Given the description of an element on the screen output the (x, y) to click on. 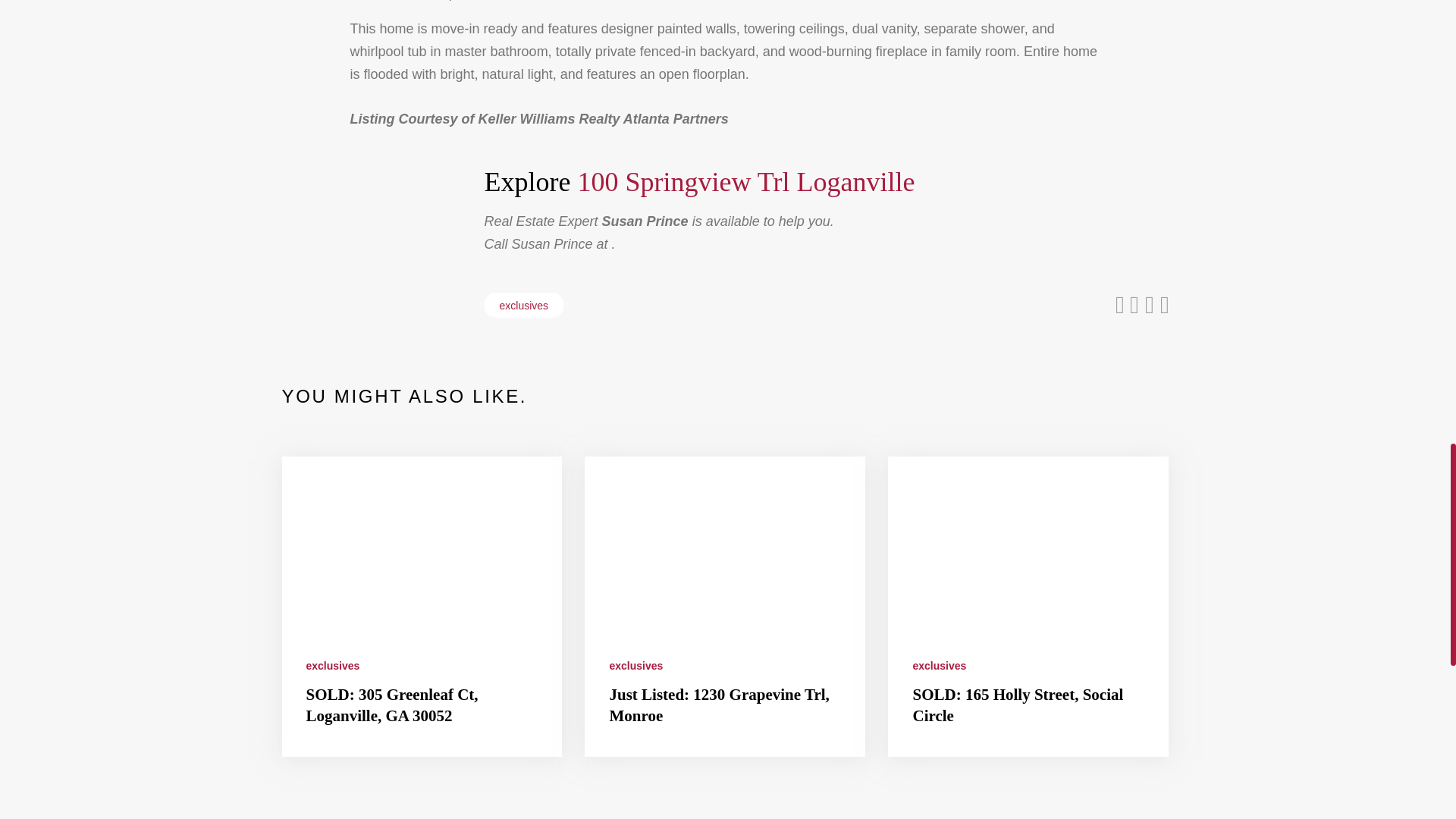
exclusives (523, 304)
100 Springview Trl Loganville (745, 182)
exclusives (332, 665)
SOLD: 305 Greenleaf Ct, Loganville, GA 30052 (392, 704)
